Given the description of an element on the screen output the (x, y) to click on. 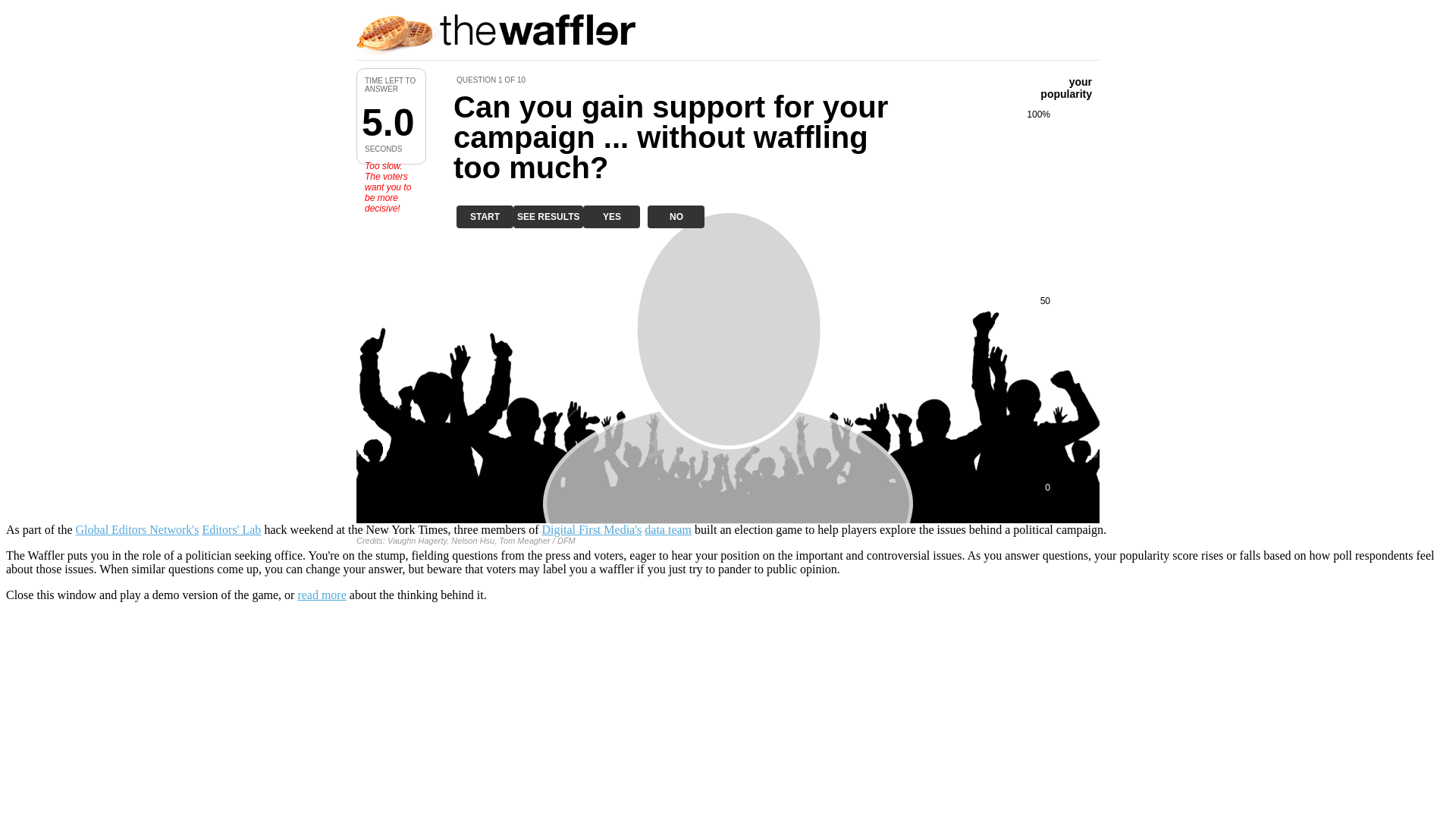
START (485, 216)
Digital First Media's (591, 529)
data team (668, 529)
Global Editors Network's (137, 529)
NO (675, 216)
SEE RESULTS (548, 216)
Editors' Lab (231, 529)
YES (611, 216)
